Given the description of an element on the screen output the (x, y) to click on. 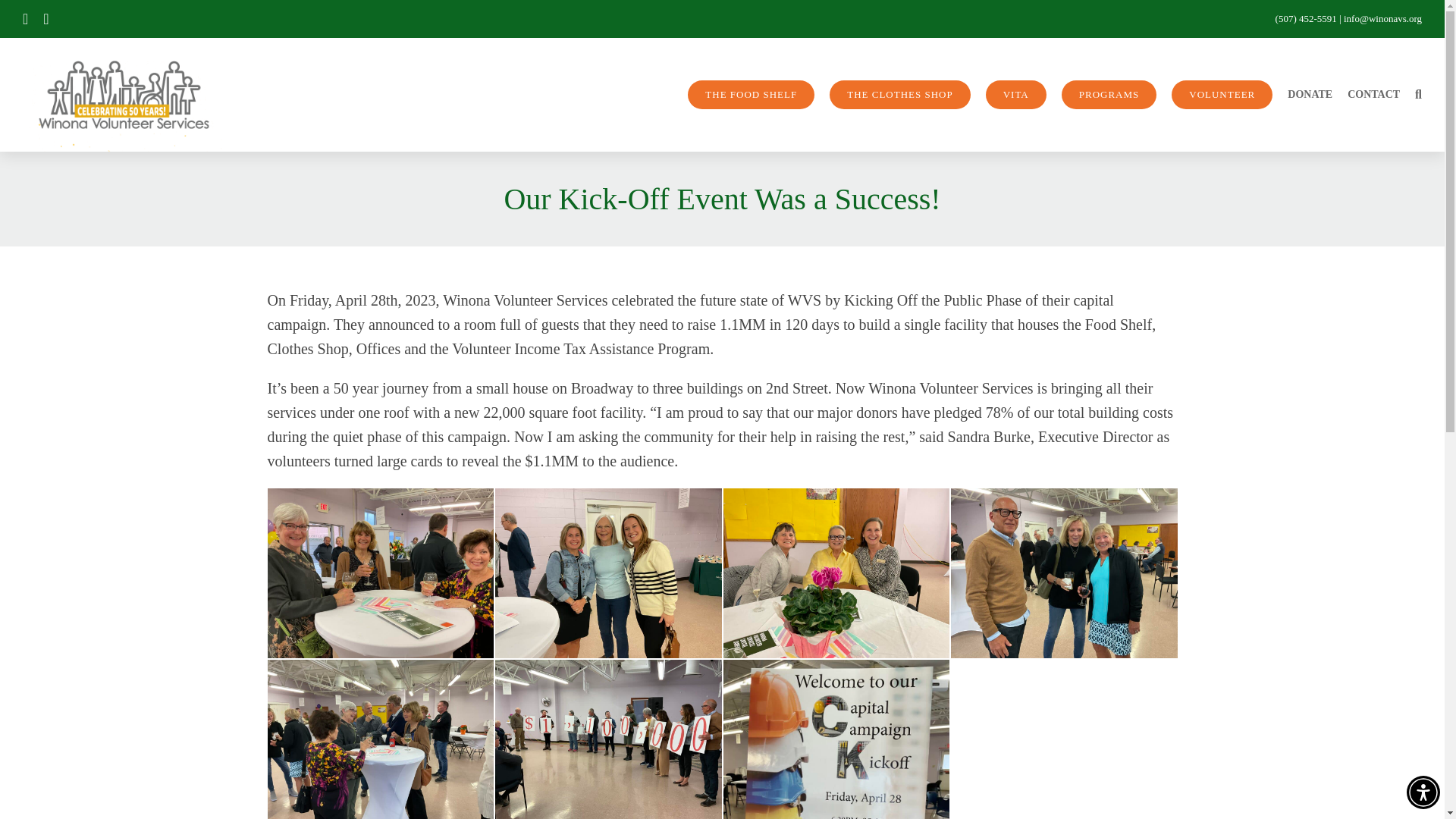
DONATE (1309, 94)
VITA (1015, 94)
THE CLOTHES SHOP (900, 94)
PROGRAMS (1109, 94)
CONTACT (1373, 94)
Accessibility Menu (1422, 792)
THE FOOD SHELF (750, 94)
VOLUNTEER (1222, 94)
